Given the description of an element on the screen output the (x, y) to click on. 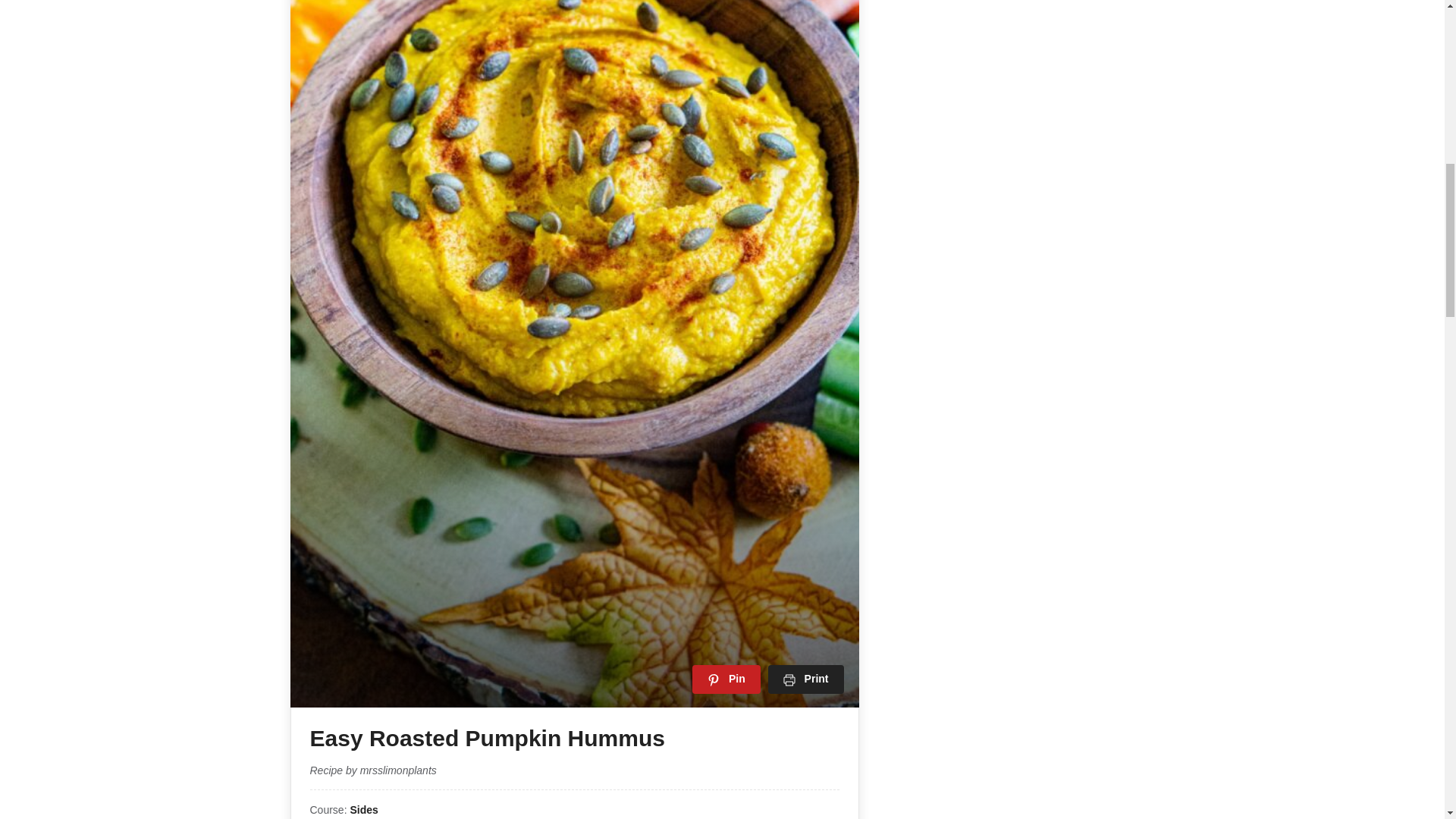
Print directions... (806, 678)
